Given the description of an element on the screen output the (x, y) to click on. 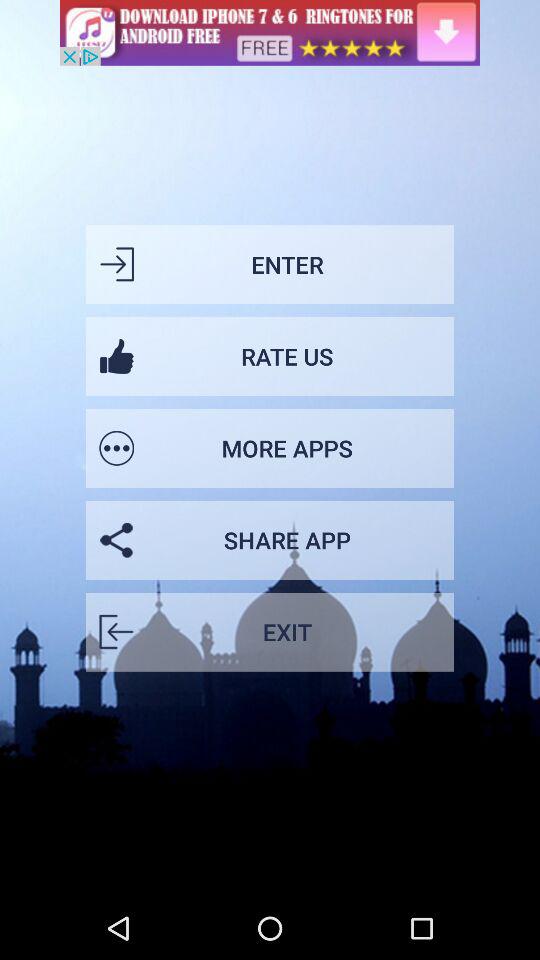
open advertisement (270, 32)
